Given the description of an element on the screen output the (x, y) to click on. 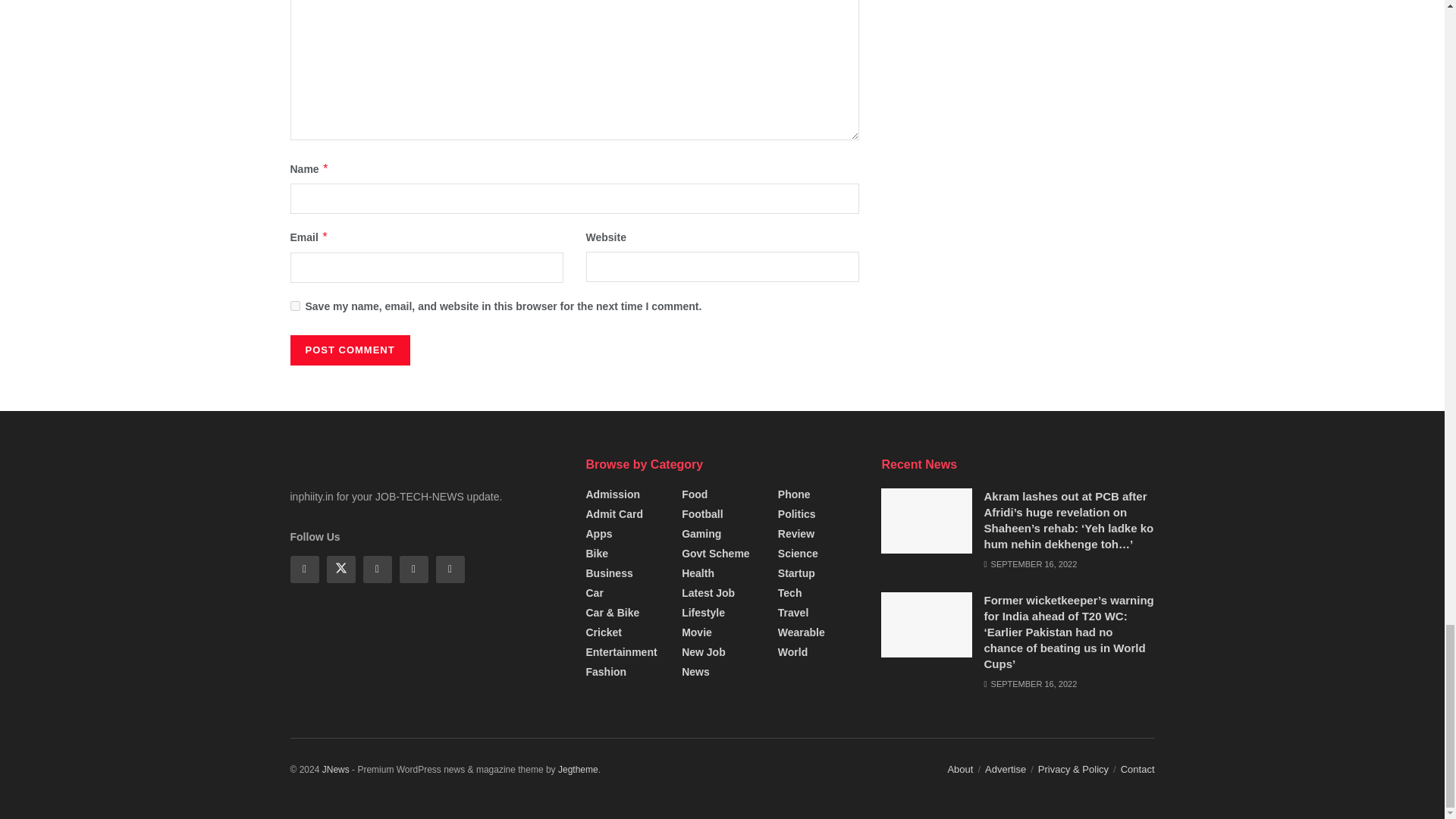
Post Comment (349, 349)
yes (294, 306)
Jegtheme (577, 769)
